Given the description of an element on the screen output the (x, y) to click on. 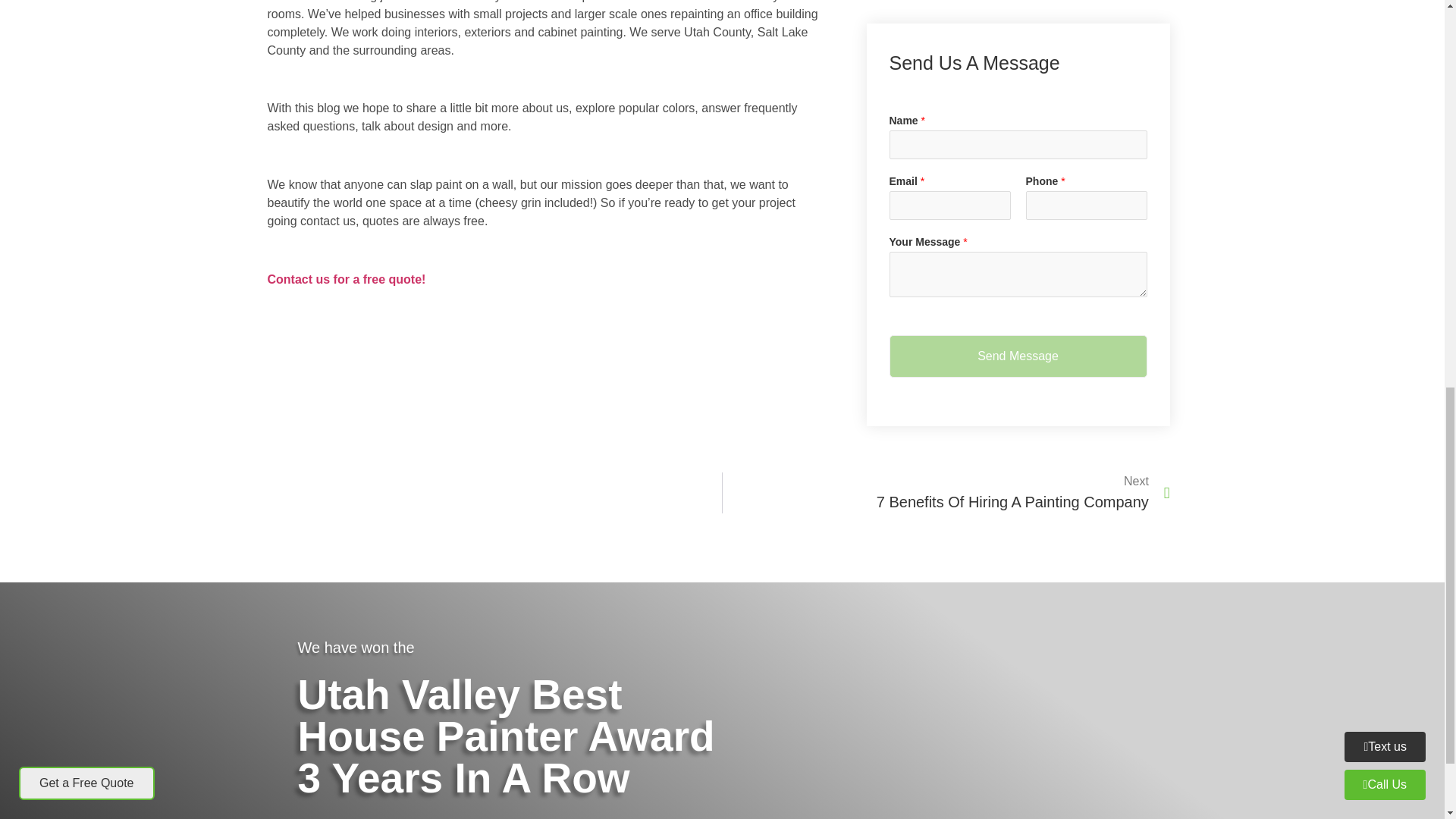
Send Message (1017, 355)
Contact us for a free quote! (345, 278)
